Given the description of an element on the screen output the (x, y) to click on. 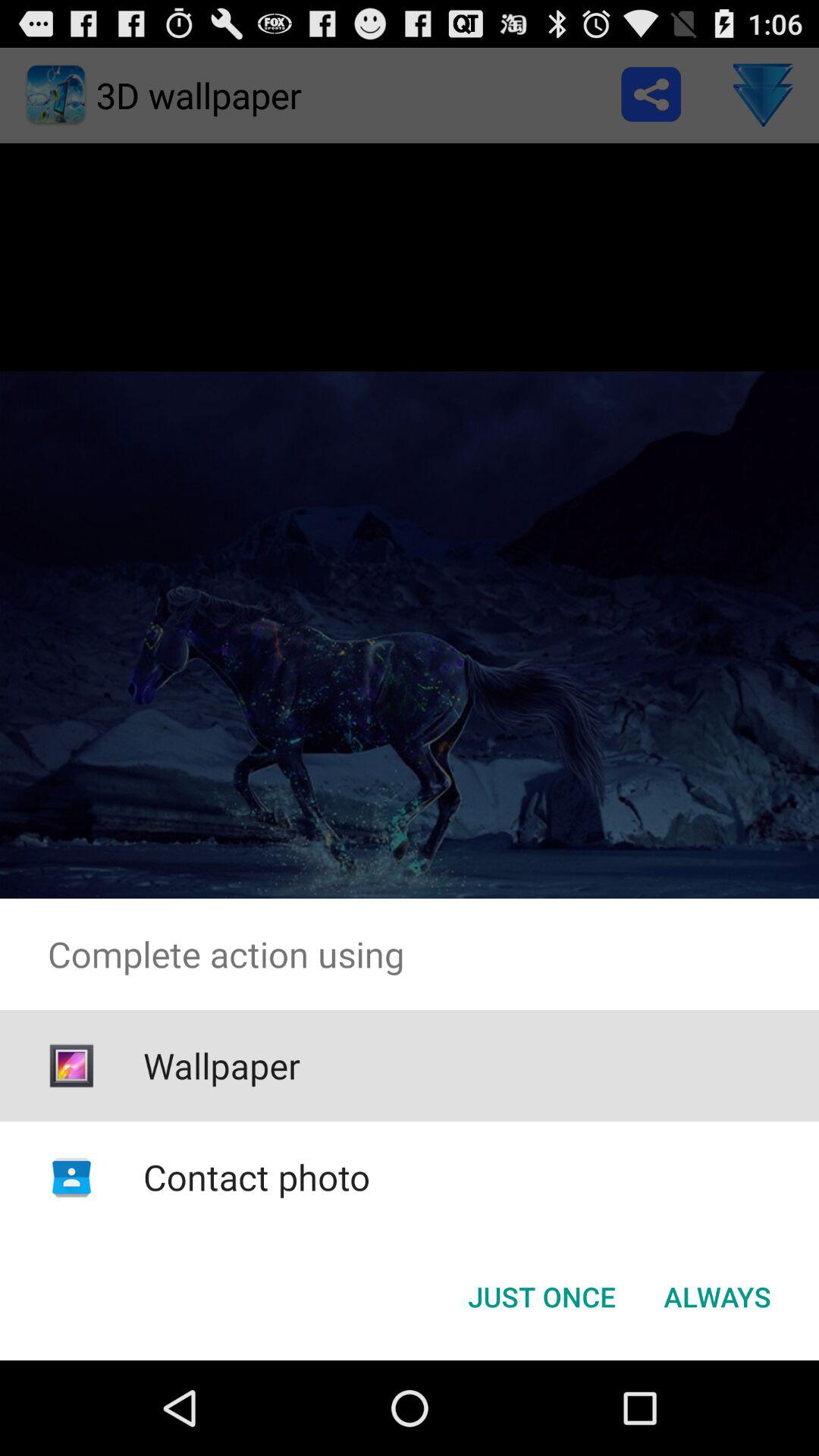
click wallpaper app (221, 1065)
